Given the description of an element on the screen output the (x, y) to click on. 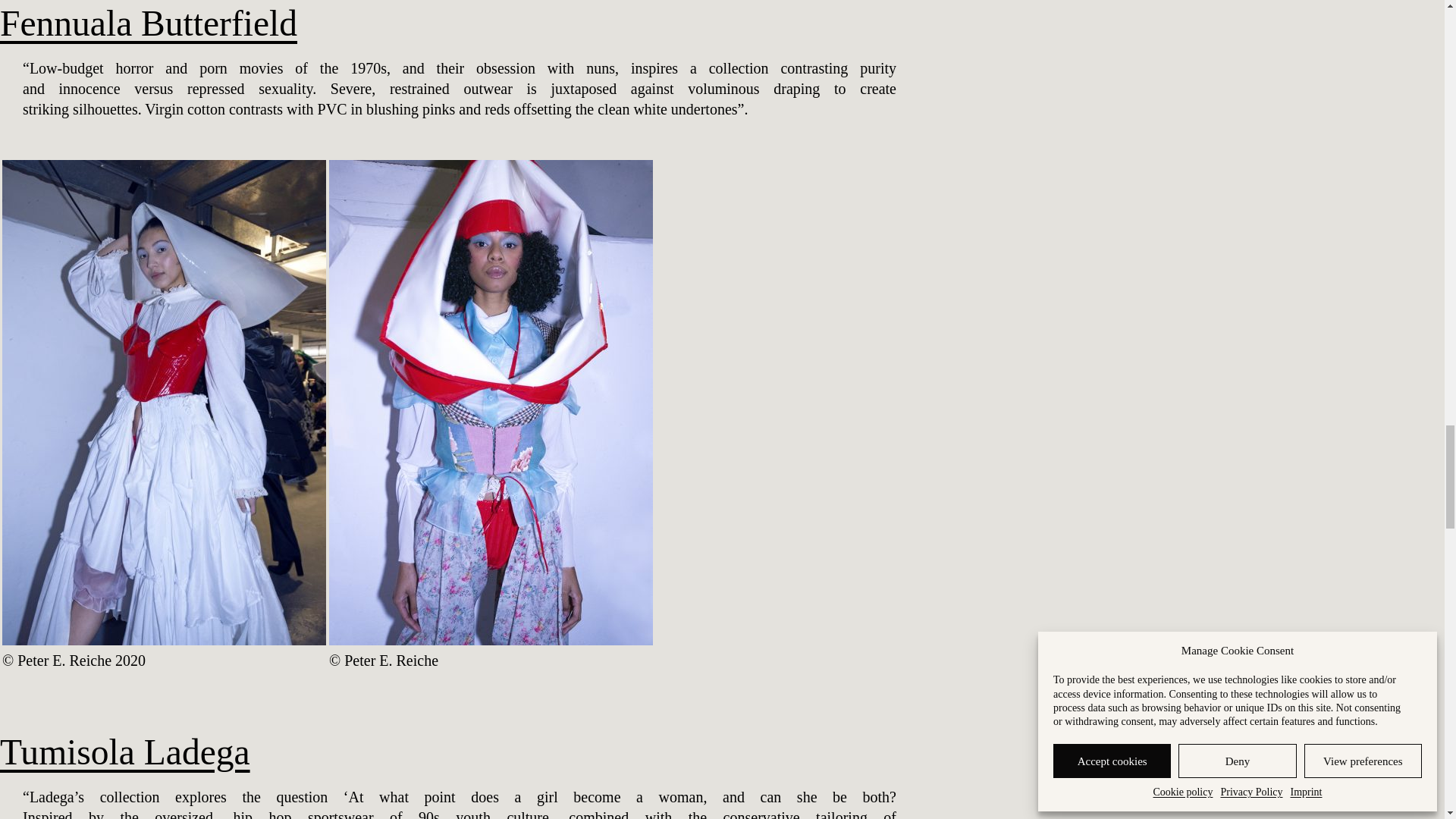
Tumisola Ladega (125, 752)
Fennuala Butterfield (148, 23)
